Given the description of an element on the screen output the (x, y) to click on. 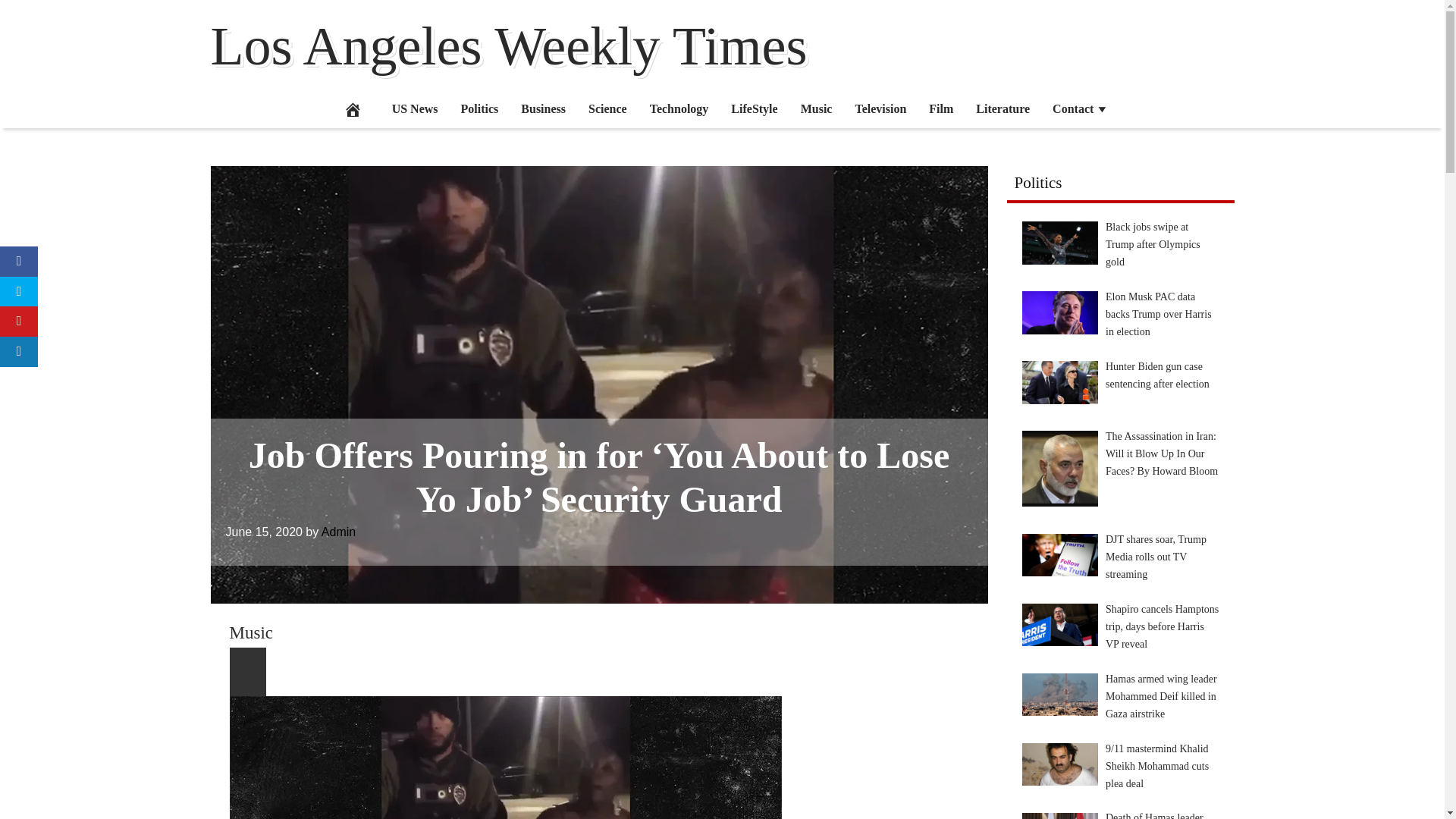
Television (880, 108)
US News (414, 108)
Science (607, 108)
Shapiro cancels Hamptons trip, days before Harris VP reveal (1059, 624)
LifeStyle (754, 108)
DJT shares soar, Trump Media rolls out TV streaming (1059, 554)
Literature (1002, 108)
Music (250, 632)
